Given the description of an element on the screen output the (x, y) to click on. 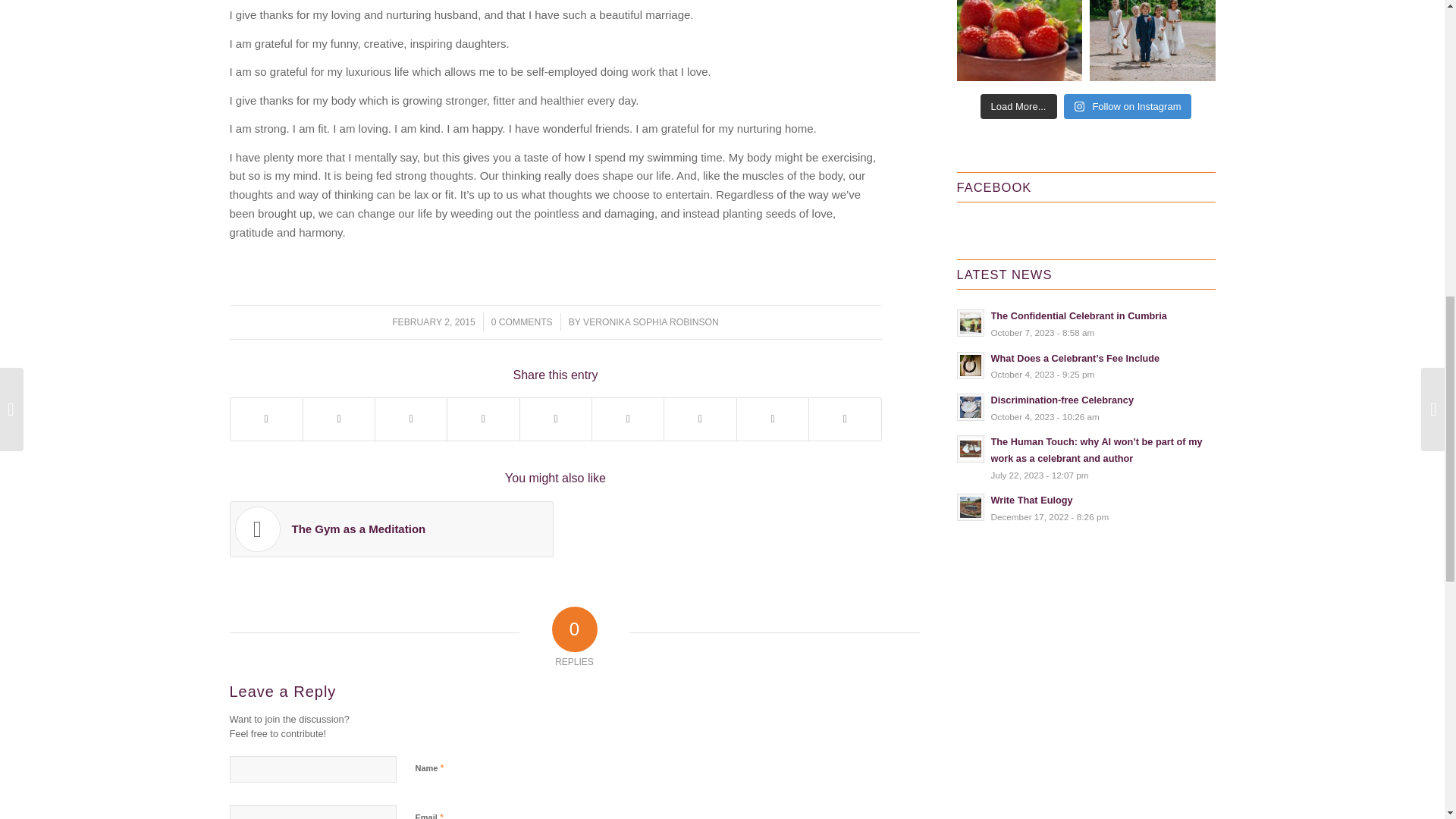
VERONIKA SOPHIA ROBINSON (651, 321)
Posts by Veronika Sophia Robinson (651, 321)
0 COMMENTS (522, 321)
